Given the description of an element on the screen output the (x, y) to click on. 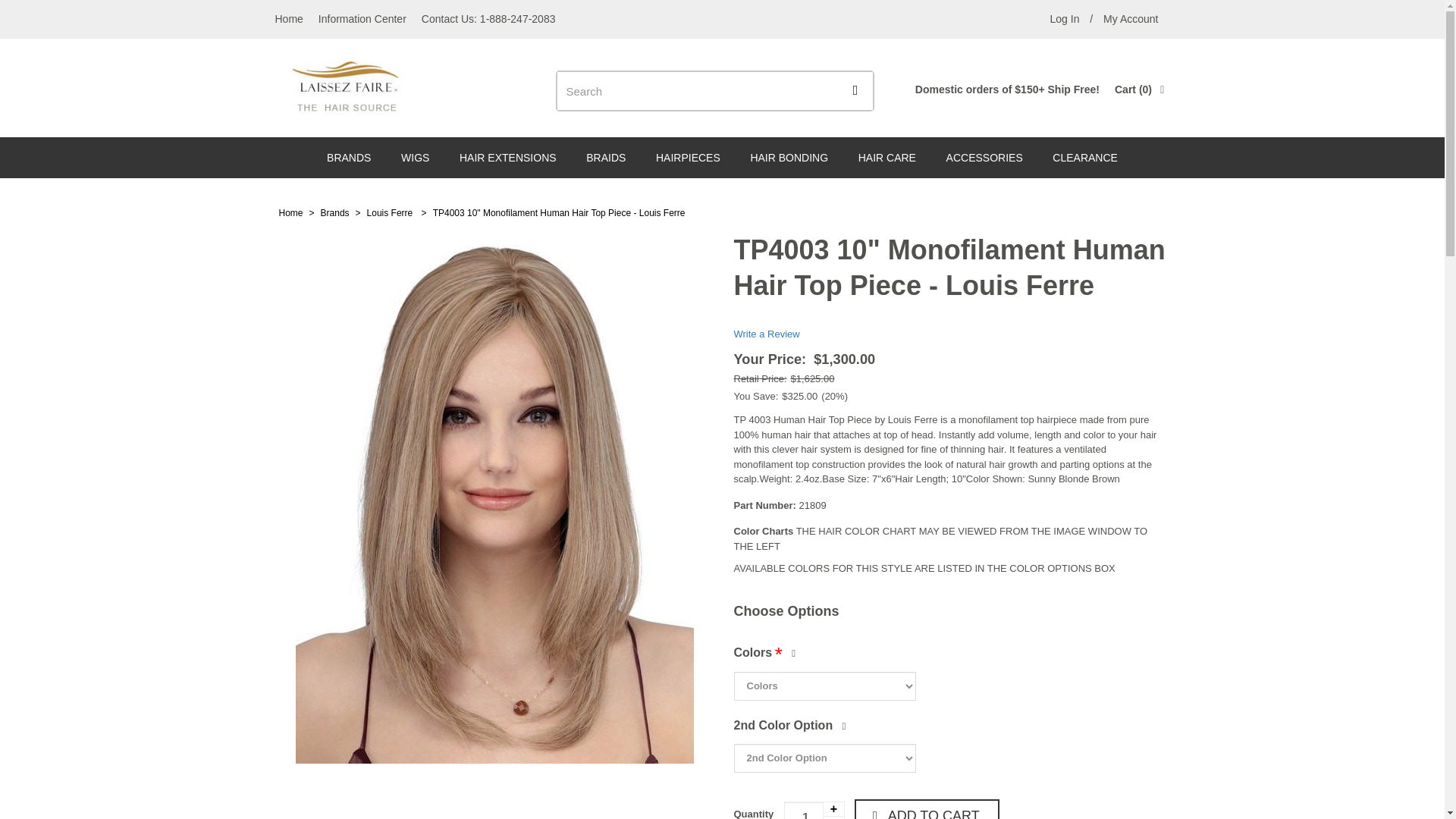
HAIR BONDING (788, 157)
ACCESSORIES (984, 157)
Write a Review (766, 333)
BRANDS (348, 157)
HAIRPIECES (687, 157)
CLEARANCE (1085, 157)
TP4003 10" Monofilament Human Hair Top Piece - Louis Ferre (558, 213)
Information Center (362, 18)
WIGS (414, 157)
Louis Ferre (390, 213)
